Given the description of an element on the screen output the (x, y) to click on. 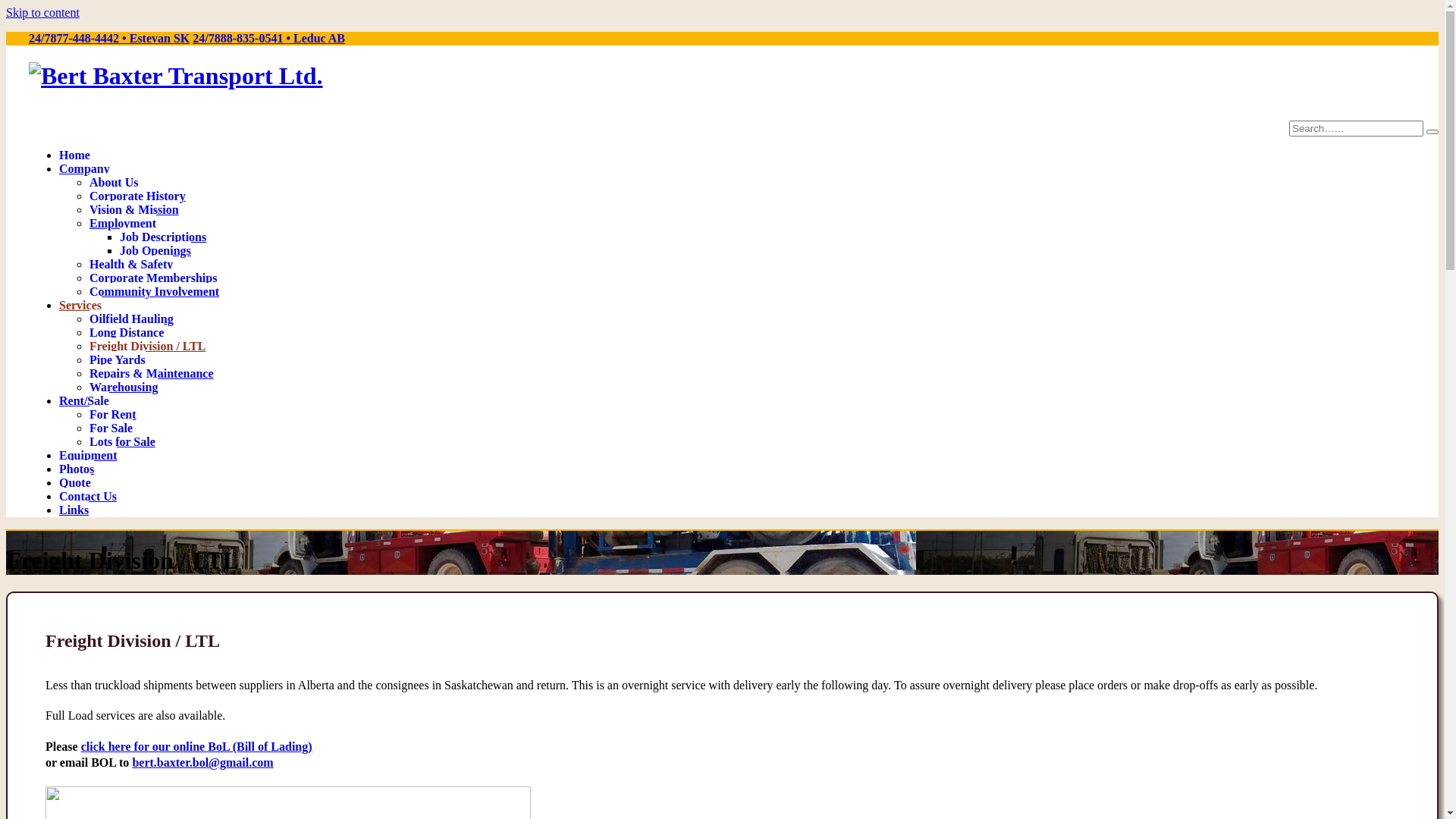
Equipment Element type: text (87, 453)
About Us Element type: text (113, 180)
Corporate History Element type: text (137, 194)
Links Element type: text (73, 508)
Photos Element type: text (76, 467)
Home Element type: text (74, 153)
Corporate Memberships Element type: text (152, 276)
Job Openings Element type: text (155, 249)
bert.baxter.bol@gmail.com Element type: text (202, 762)
Quote Element type: text (75, 481)
Lots for Sale Element type: text (122, 440)
Repairs & Maintenance Element type: text (151, 371)
Vision & Mission Element type: text (133, 208)
For Sale Element type: text (110, 426)
Freight Division / LTL Element type: text (147, 344)
Employment Element type: text (122, 221)
Oilfield Hauling Element type: text (131, 317)
Pipe Yards Element type: text (117, 358)
Company Element type: text (84, 167)
Long Distance Element type: text (126, 330)
Job Descriptions Element type: text (162, 235)
Health & Safety Element type: text (130, 262)
Services Element type: text (80, 303)
Rent/Sale Element type: text (84, 399)
For Rent Element type: text (112, 412)
Contact Us Element type: text (87, 494)
Warehousing Element type: text (123, 385)
Skip to content Element type: text (42, 12)
click here for our online BoL (Bill of Lading) Element type: text (196, 746)
Community Involvement Element type: text (154, 290)
